Given the description of an element on the screen output the (x, y) to click on. 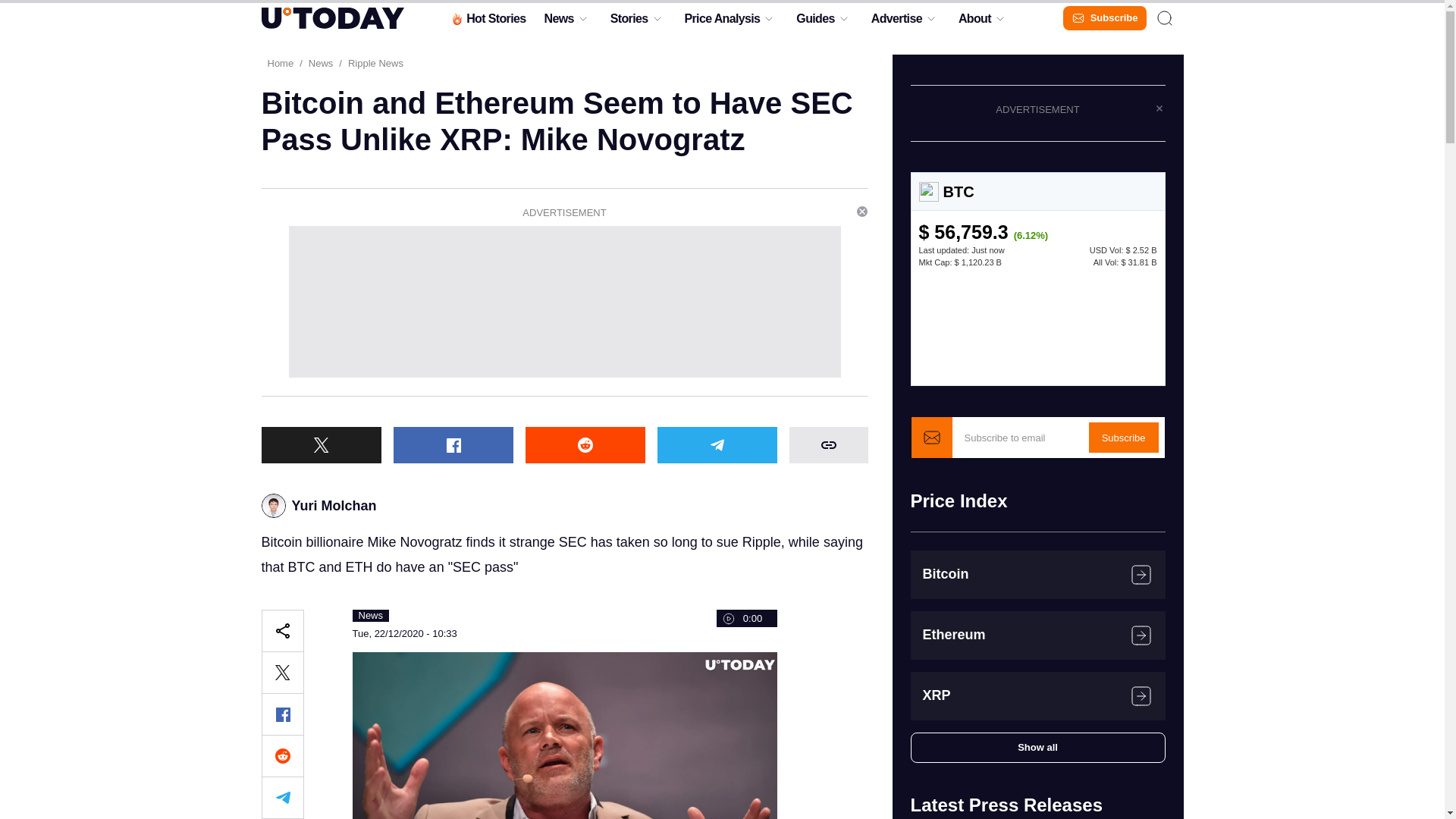
News (558, 22)
Hot Stories (486, 22)
Share to Reddit (584, 444)
U.Today logo (331, 17)
Share to Facebook (281, 713)
Share to X (320, 444)
Advertisement (564, 301)
Share to Telegram (716, 444)
Share to Facebook (452, 444)
Share to Reddit (281, 755)
Stories (628, 22)
Share to Telegram (281, 797)
Share to X (281, 672)
